Given the description of an element on the screen output the (x, y) to click on. 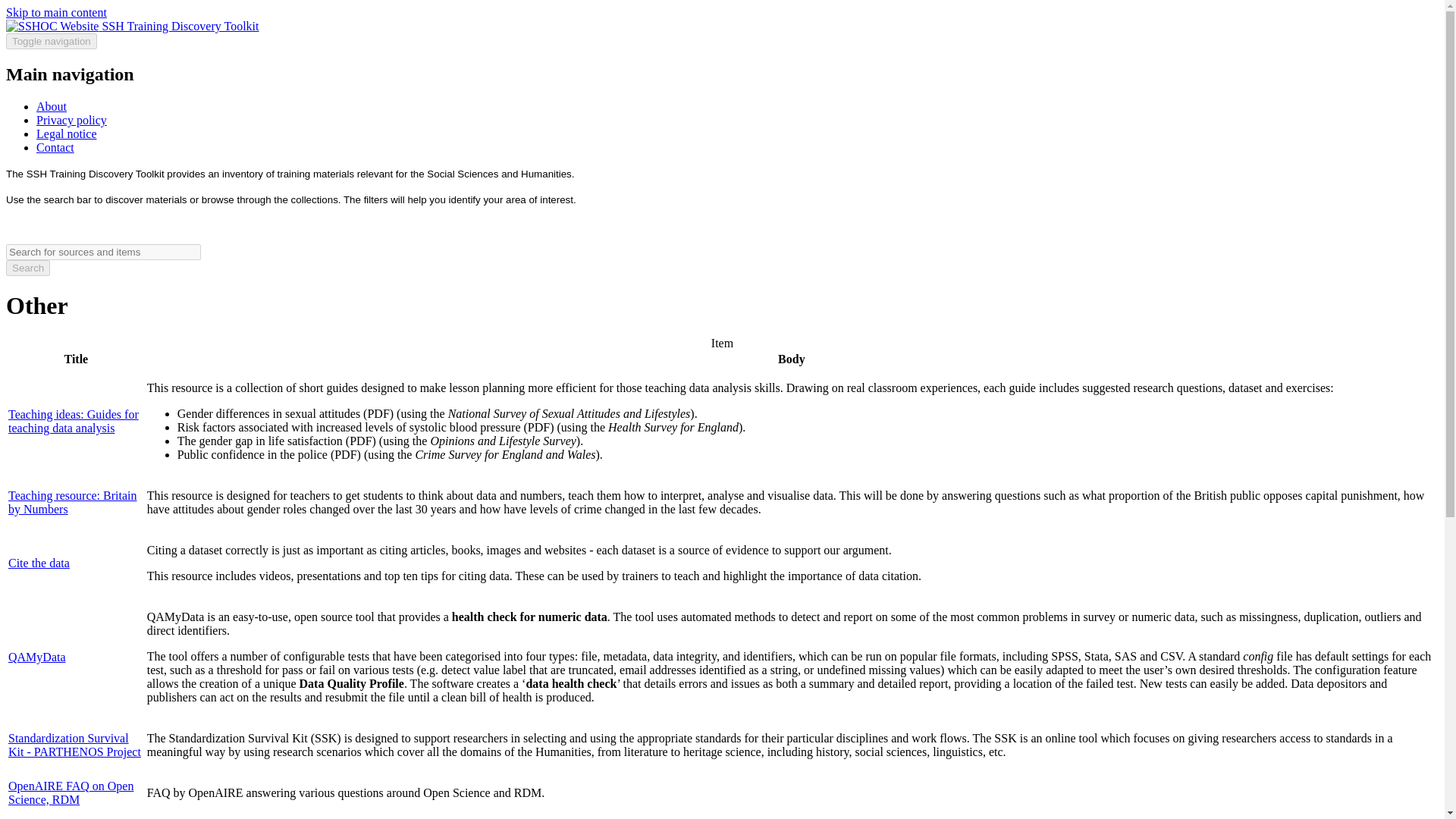
Teaching ideas: Guides for teaching data analysis (73, 420)
Standardization Survival Kit - PARTHENOS Project (74, 745)
About (51, 106)
Contact (55, 146)
Skip to main content (55, 11)
Teaching resource: Britain by Numbers (72, 501)
OpenAIRE FAQ on Open Science, RDM (70, 792)
Privacy policy (71, 119)
Legal notice (66, 133)
Cite the data (38, 562)
Toggle navigation (51, 41)
Search (27, 268)
Home (180, 25)
SSHOC Website (53, 25)
QAMyData (36, 656)
